Given the description of an element on the screen output the (x, y) to click on. 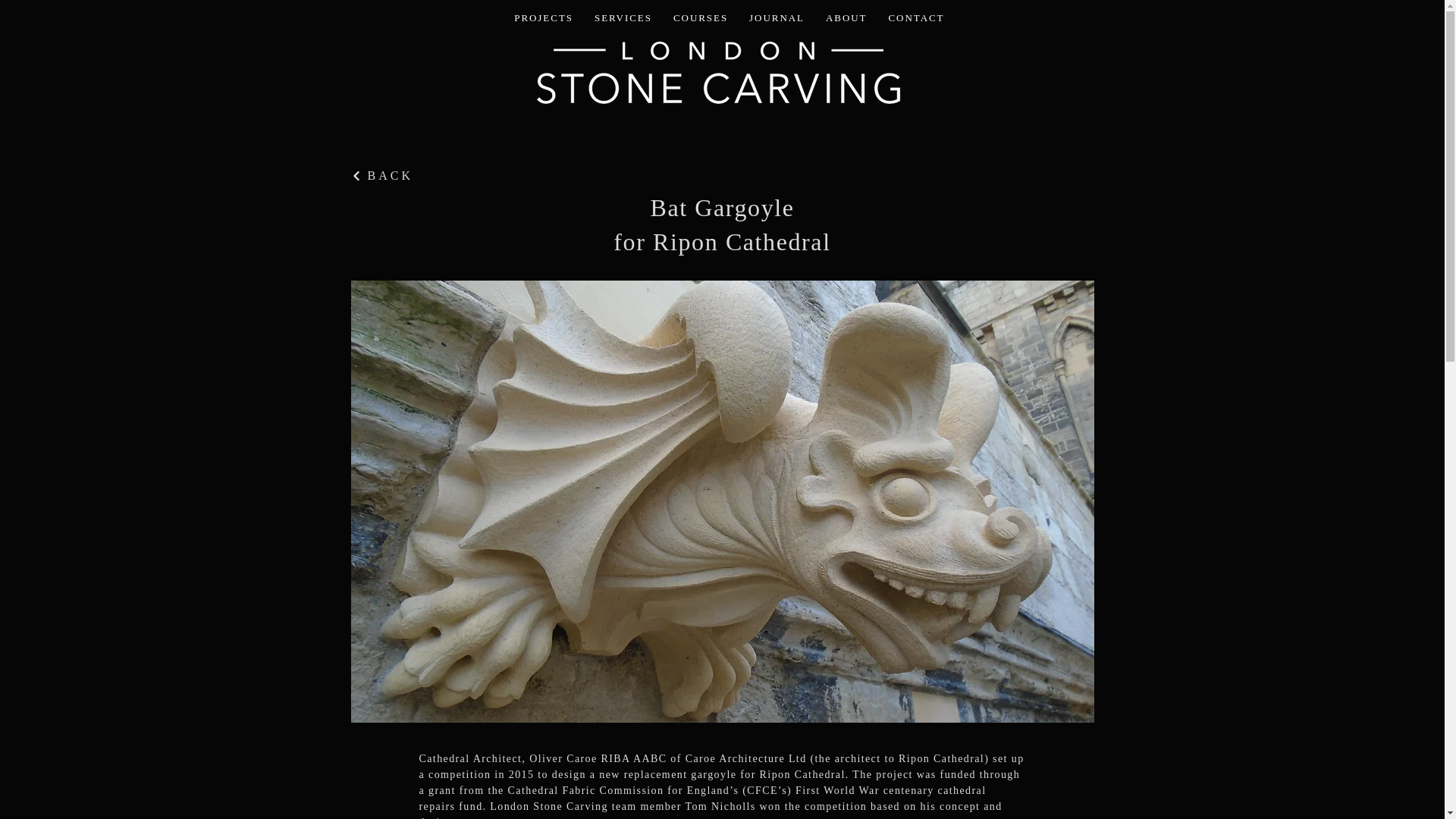
BACK (435, 175)
CONTACT (916, 17)
COURSES (700, 17)
SERVICES (622, 17)
ABOUT (846, 17)
JOURNAL (776, 17)
PROJECTS (543, 17)
